Given the description of an element on the screen output the (x, y) to click on. 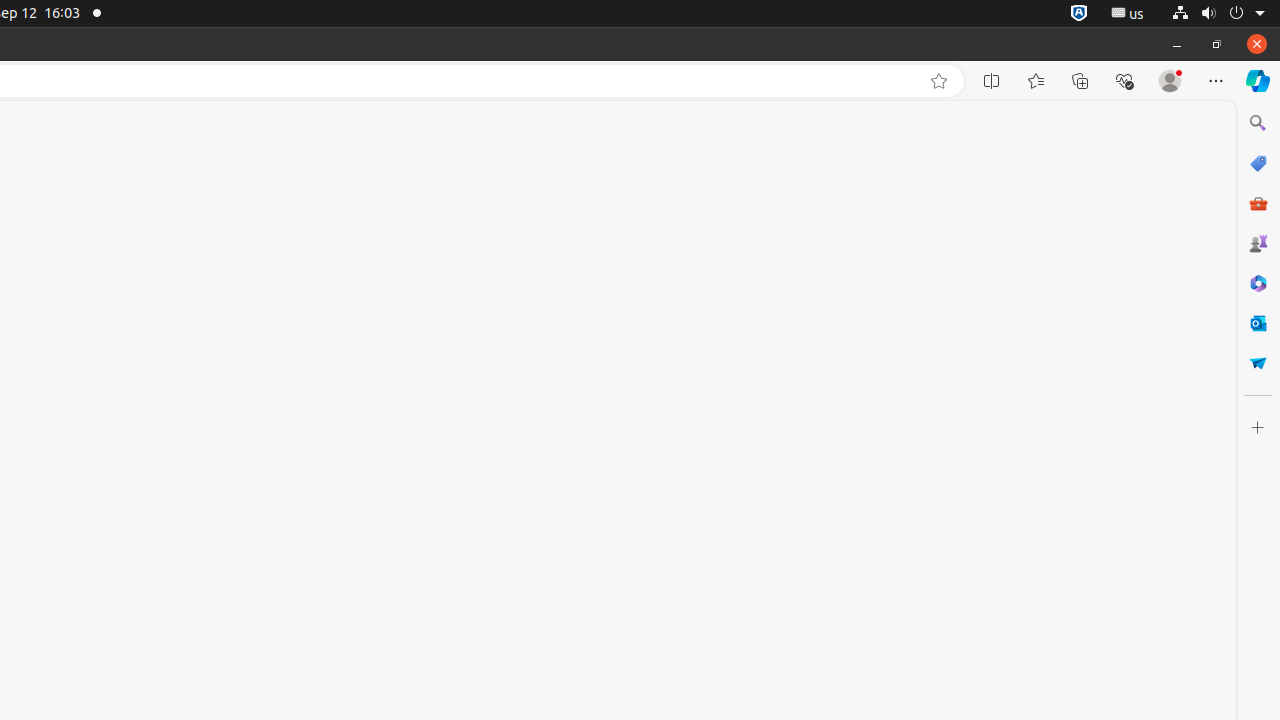
Copilot (Ctrl+Shift+.) Element type: push-button (1258, 81)
System Element type: menu (1218, 13)
Microsoft 365 Element type: push-button (1258, 283)
Tools Element type: push-button (1258, 202)
Games Element type: push-button (1258, 243)
